Given the description of an element on the screen output the (x, y) to click on. 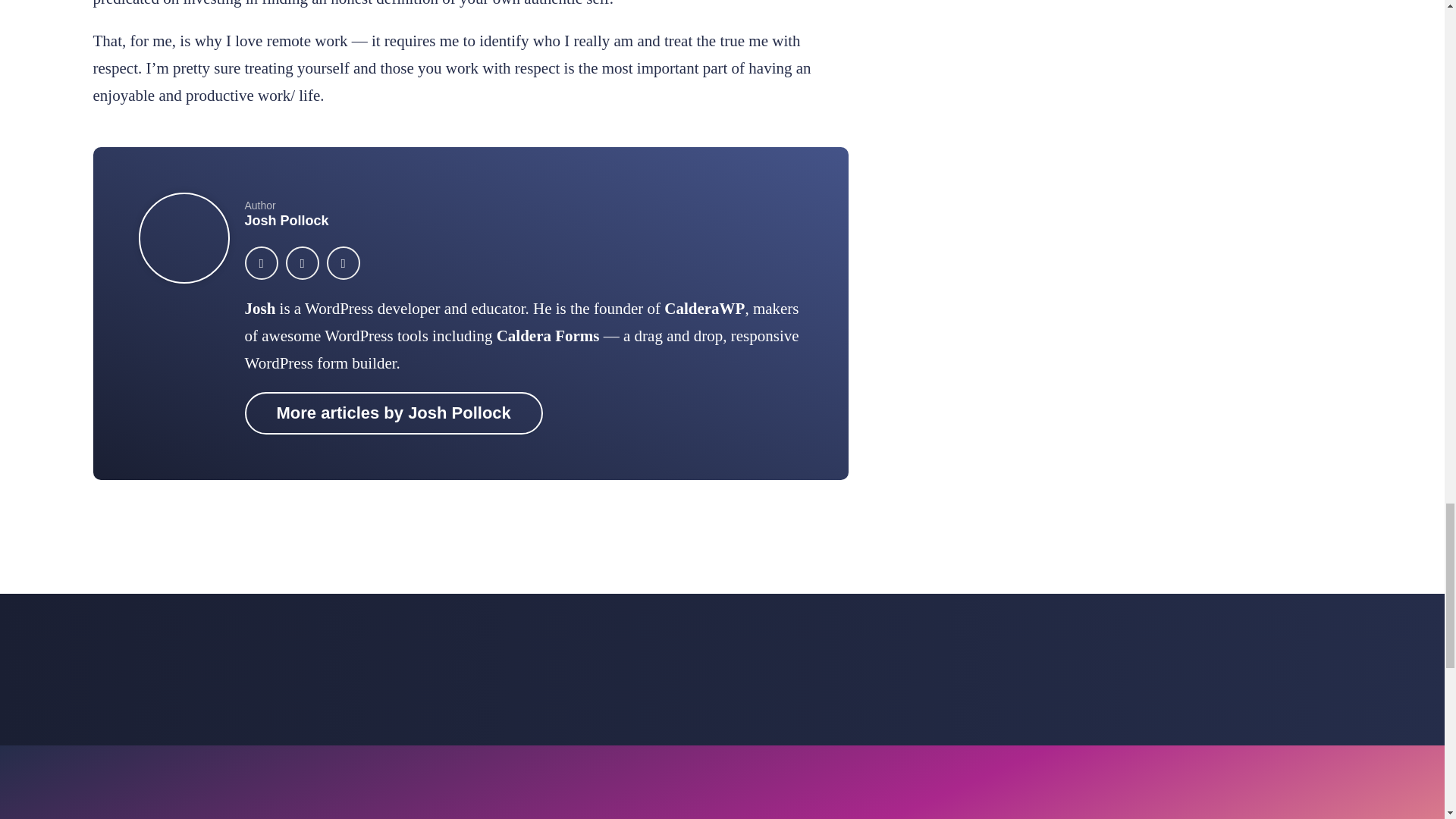
Josh's Website (259, 308)
CalderaWP (703, 308)
More articles by Josh Pollock (392, 413)
Caldera Forms (547, 335)
Josh Pollock (286, 220)
Josh (259, 308)
